Given the description of an element on the screen output the (x, y) to click on. 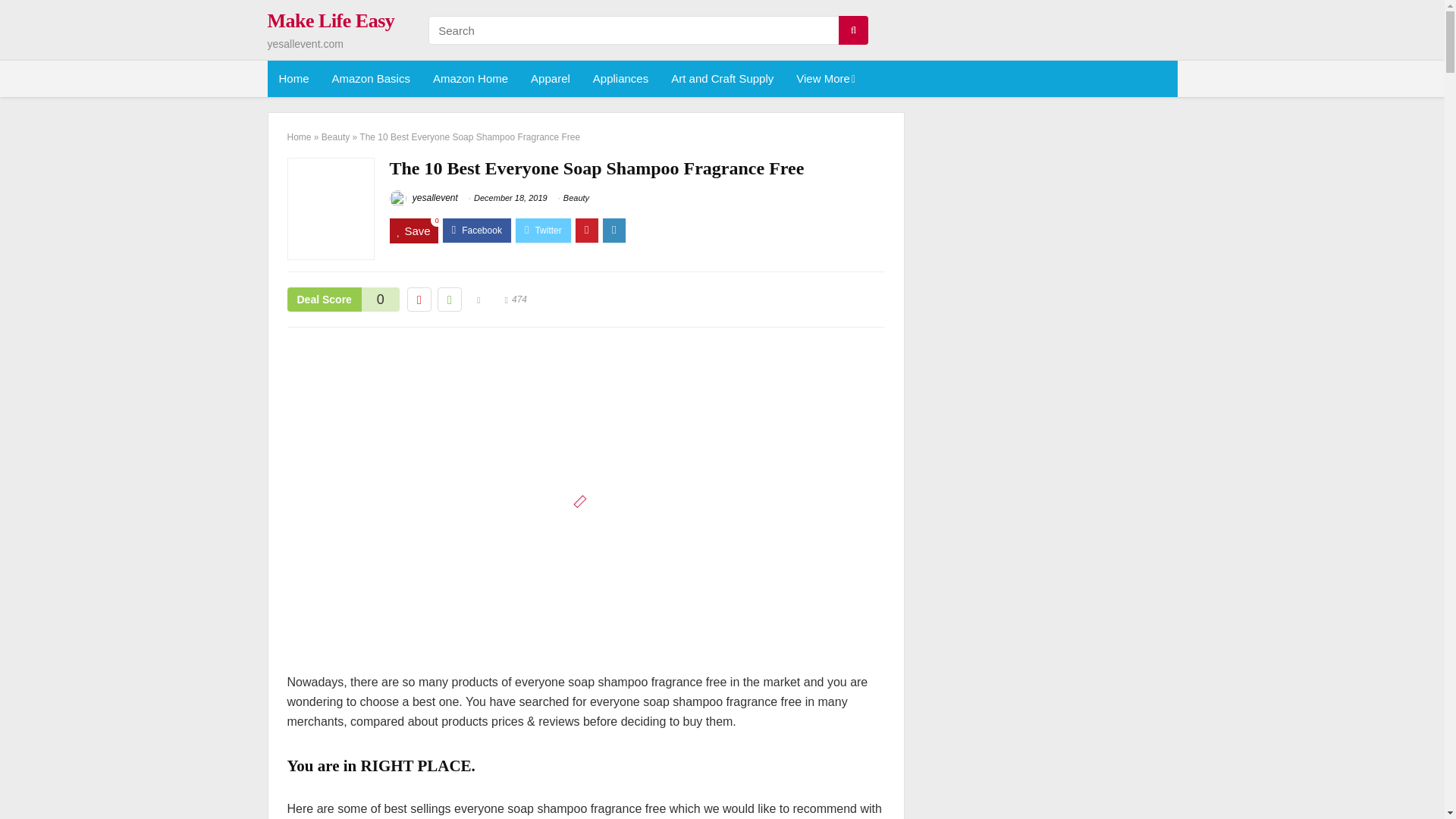
Apparel (549, 78)
Art and Craft Supply (721, 78)
Amazon Home (470, 78)
Vote down (418, 299)
Appliances (619, 78)
View all posts in Beauty (576, 197)
View More (823, 78)
Amazon Basics (371, 78)
Home (293, 78)
